Given the description of an element on the screen output the (x, y) to click on. 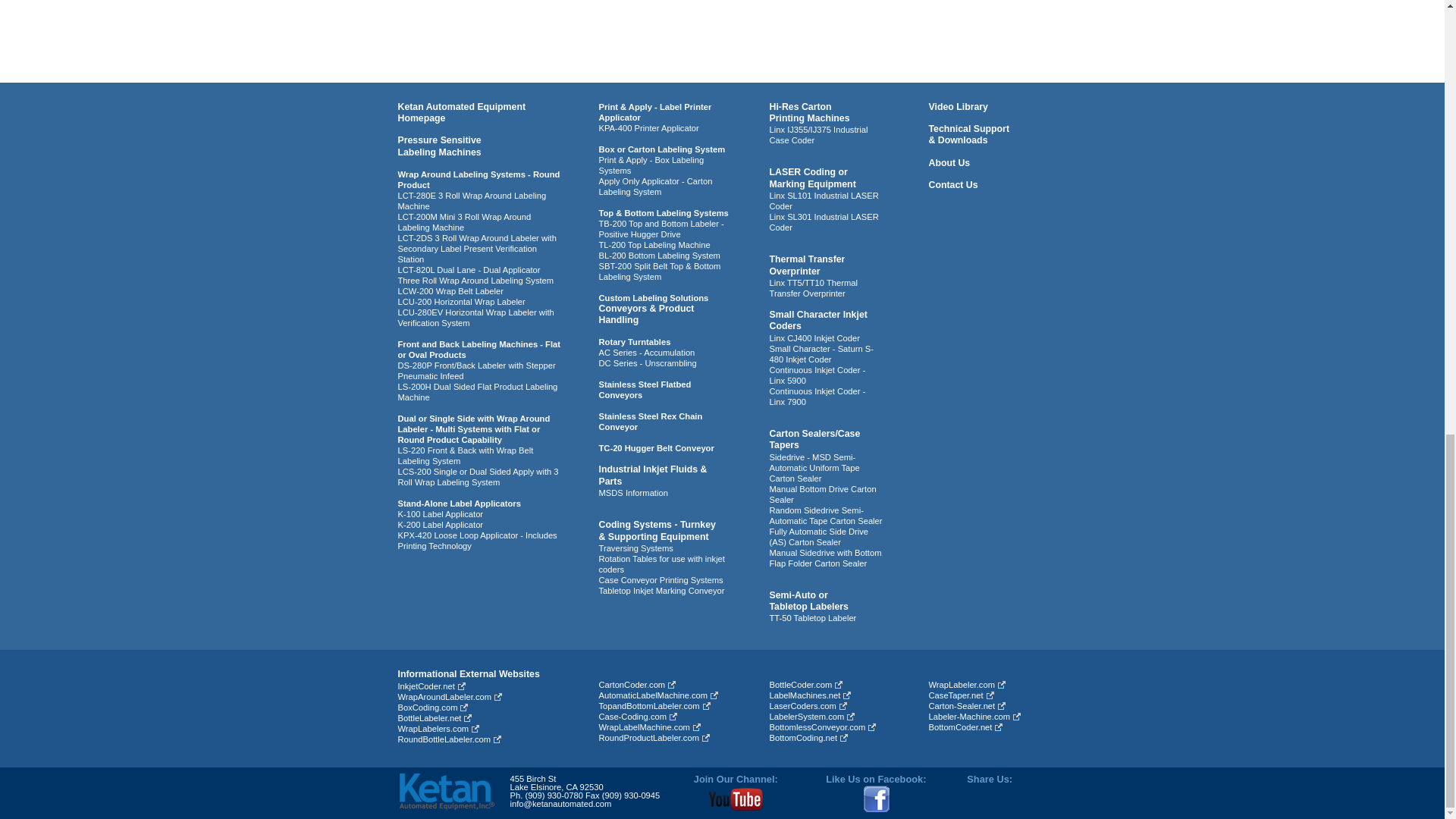
Join the Ketan Automated Equipment,Inc. YouTube channel (735, 799)
LCU-280EV Horizontal Wrap Labeler with Verification System (475, 317)
Ketan Automated Equipment Homepage (461, 112)
Wrap Around Labeling Systems - Round Product (478, 179)
LCU-200 Horizontal Wrap Labeler (460, 301)
Ketan Automated Equipment, Inc. (446, 791)
LCT-280E 3 Roll Wrap Around Labeling Machine (471, 200)
LCW-200 Wrap Belt Labeler (450, 290)
LCT-200M Mini 3 Roll Wrap Around Labeling Machine (464, 221)
